Given the description of an element on the screen output the (x, y) to click on. 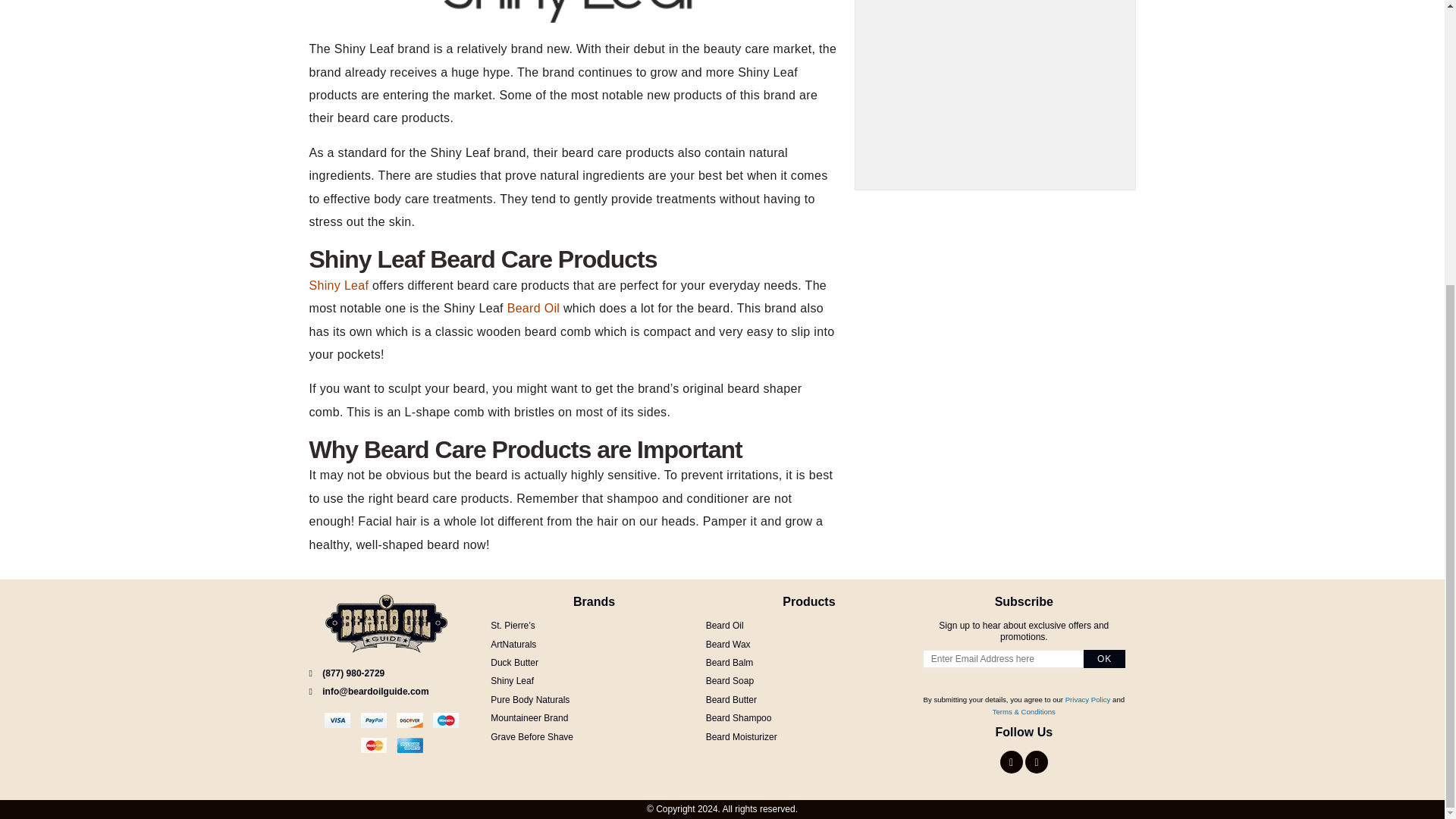
Ok (1104, 659)
Follow Us on Facebook (1011, 762)
ArtNaturals (512, 644)
Beard Butter (731, 699)
Beard Wax (728, 644)
Beard Moisturizer (741, 737)
Ok (1104, 659)
Mountaineer Brand (528, 717)
Beard Soap (730, 680)
Beard Oil (725, 624)
Duck Butter (514, 662)
Pure Body Naturals (529, 699)
Beard Balm (730, 662)
Privacy Policy (1087, 699)
Beard Shampoo (738, 717)
